Given the description of an element on the screen output the (x, y) to click on. 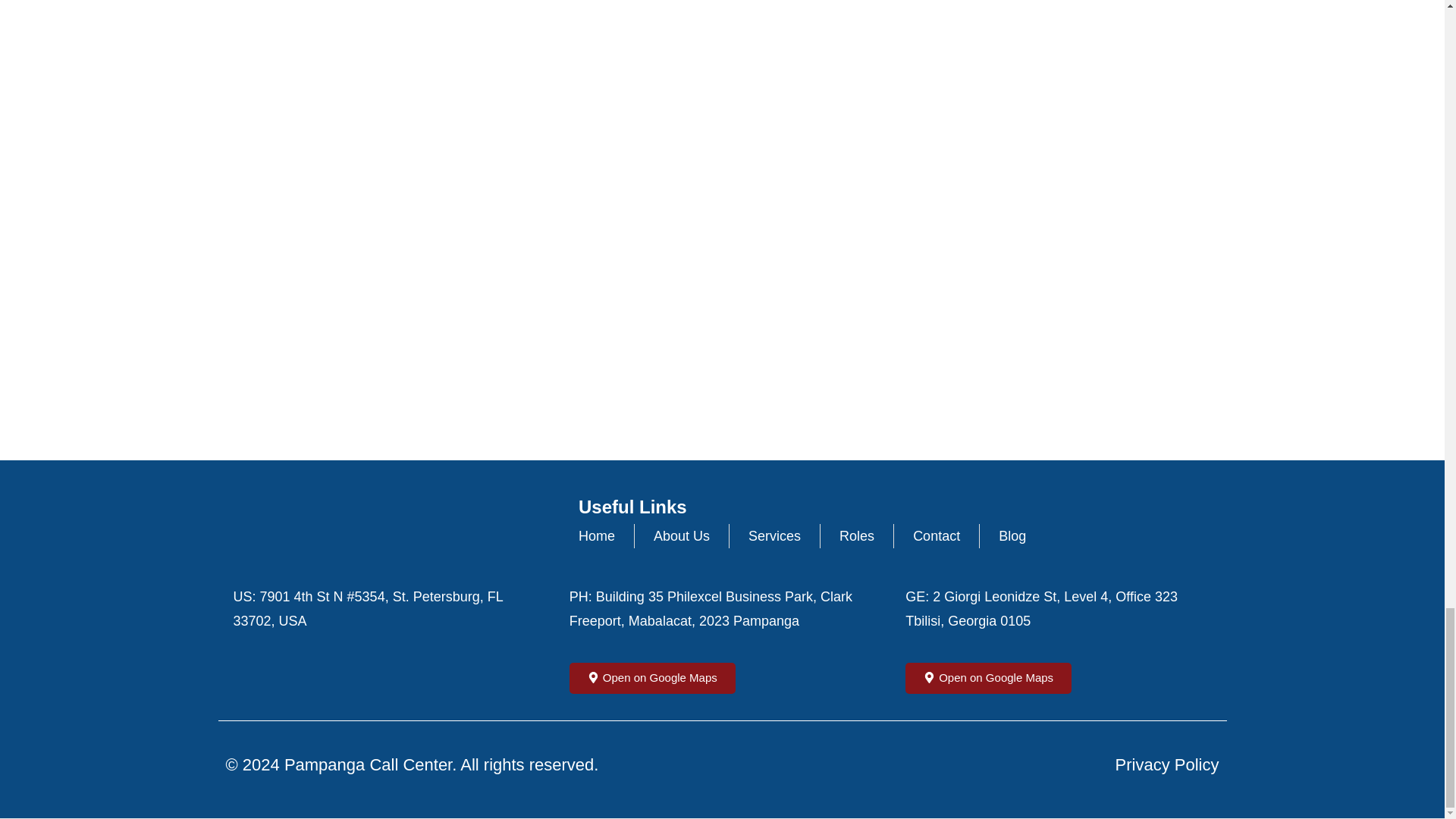
Contact (935, 535)
About Us (681, 535)
Privacy Policy (1167, 765)
Services (774, 535)
Open on Google Maps (988, 677)
Blog (1012, 535)
Home (596, 535)
Open on Google Maps (652, 677)
Roles (857, 535)
